Given the description of an element on the screen output the (x, y) to click on. 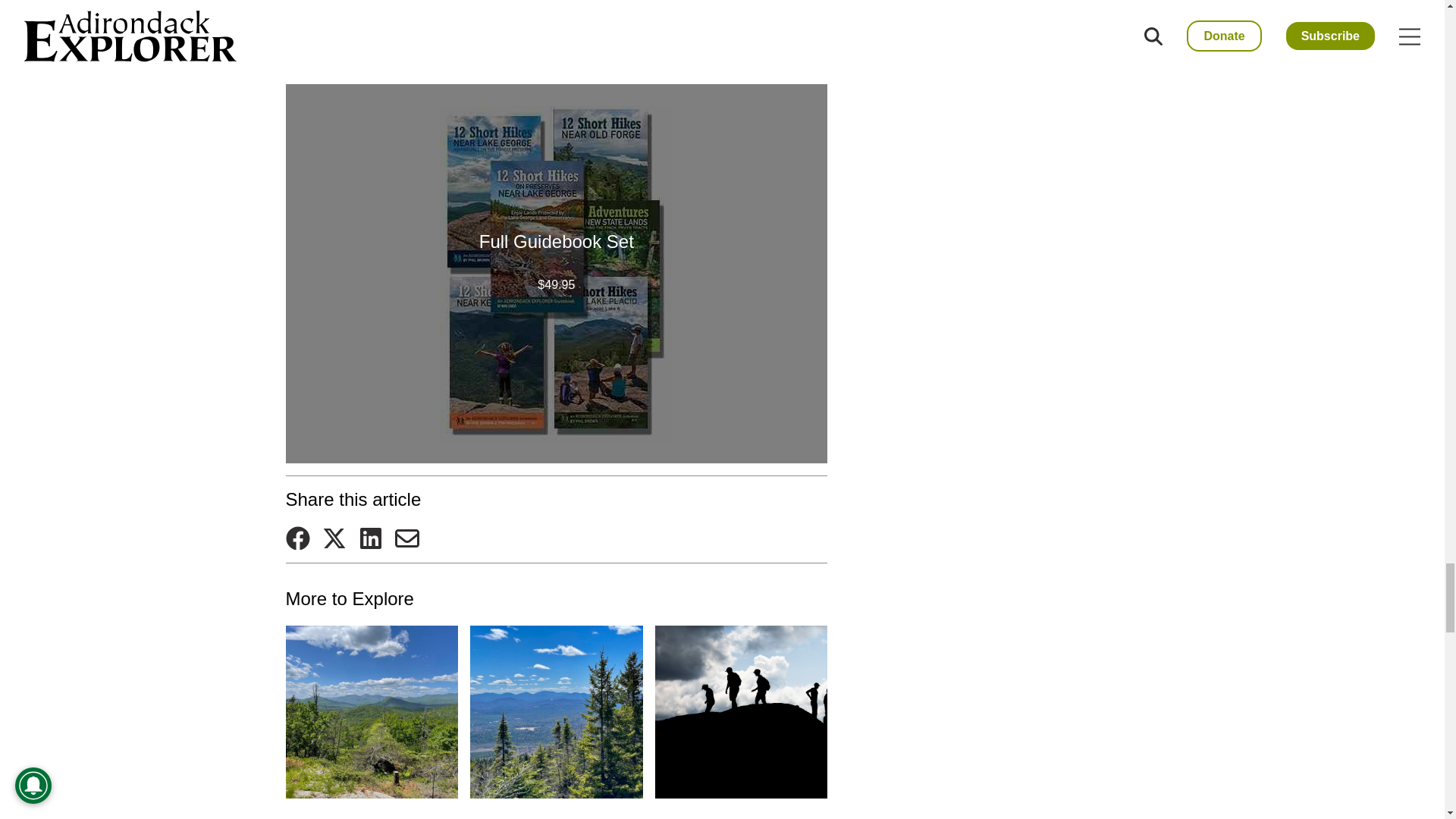
Share on LinkedIn (369, 538)
Share on Facebook (296, 538)
Send via Email (406, 538)
